Given the description of an element on the screen output the (x, y) to click on. 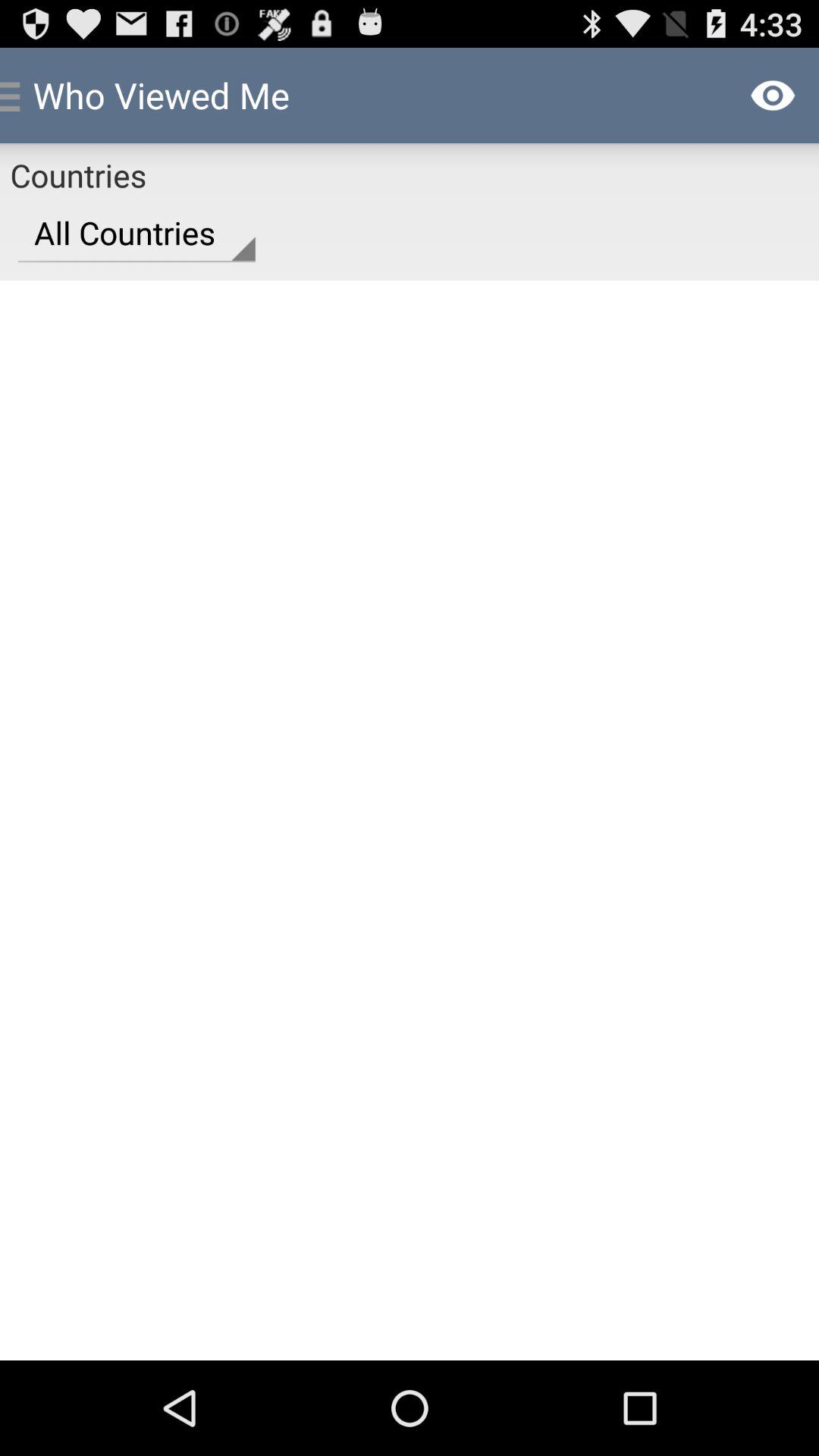
choose item at the center (409, 820)
